Given the description of an element on the screen output the (x, y) to click on. 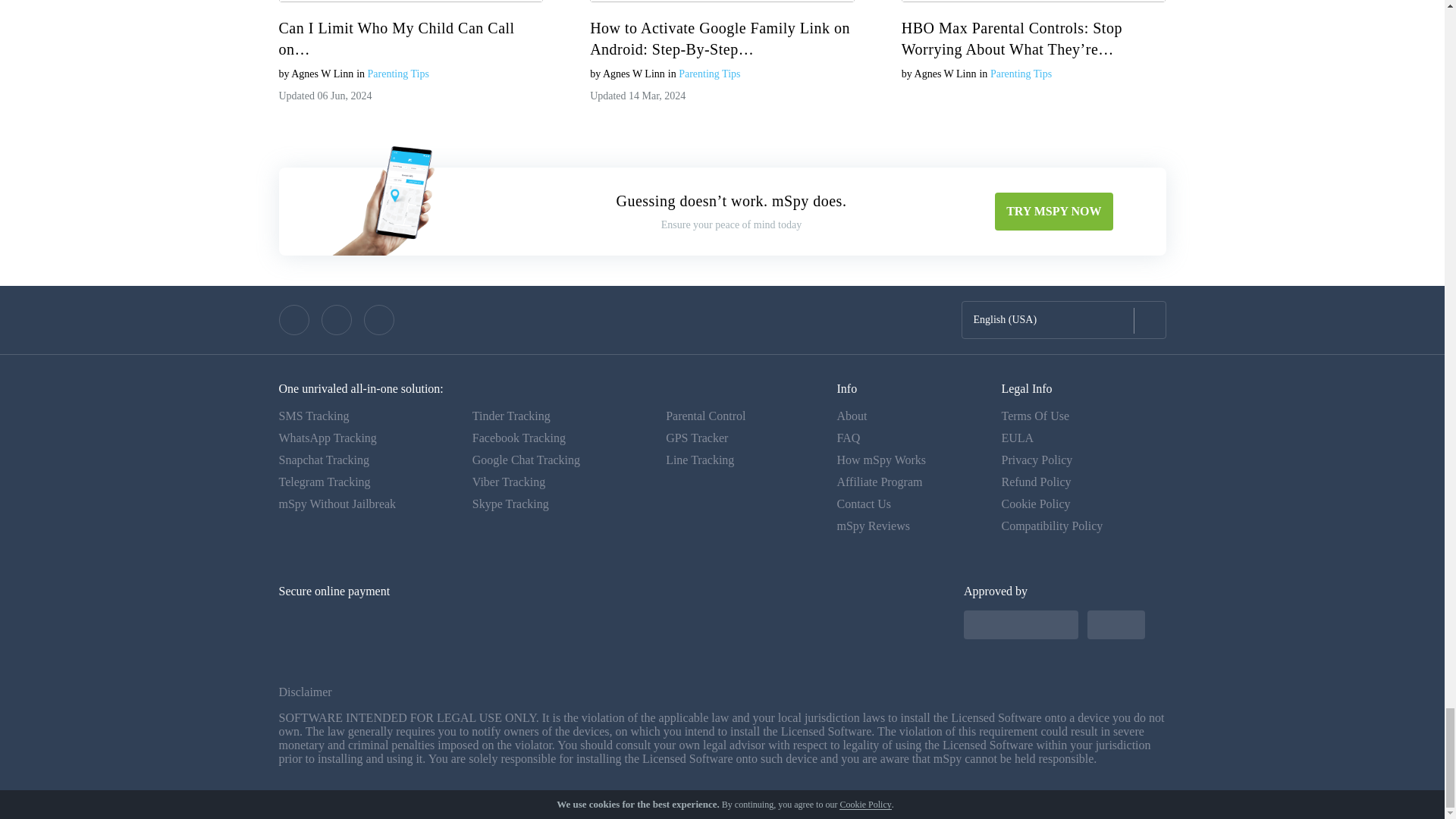
Twitter (336, 319)
social link (293, 319)
instagram (379, 319)
